Given the description of an element on the screen output the (x, y) to click on. 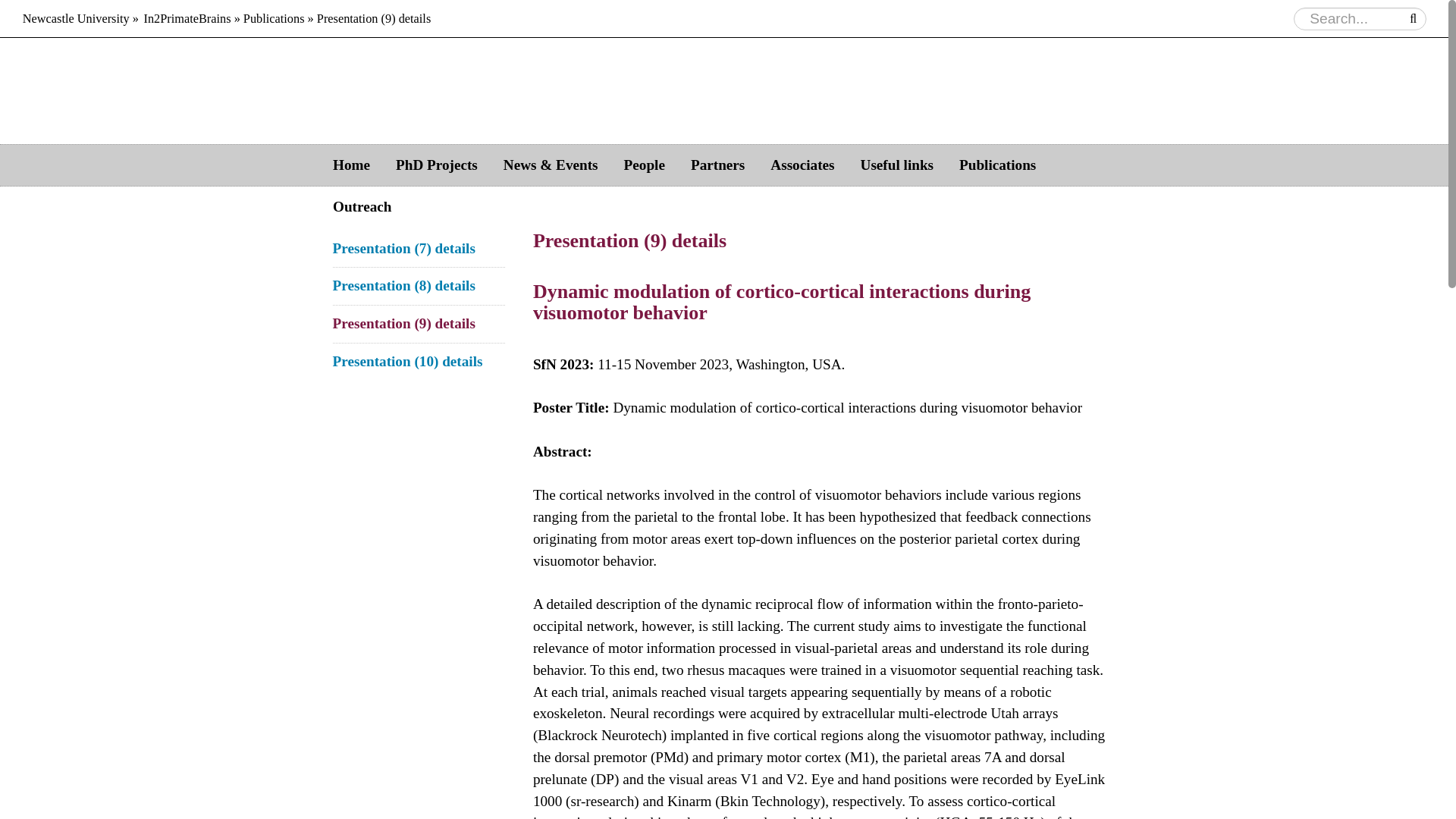
Newcastle University (76, 18)
Home (351, 165)
Associates (802, 165)
PhD Projects (436, 165)
Useful links (897, 165)
Publications (997, 165)
Outreach (362, 207)
In2PrimateBrains (186, 18)
People (644, 165)
Skip to content (776, 165)
